Given the description of an element on the screen output the (x, y) to click on. 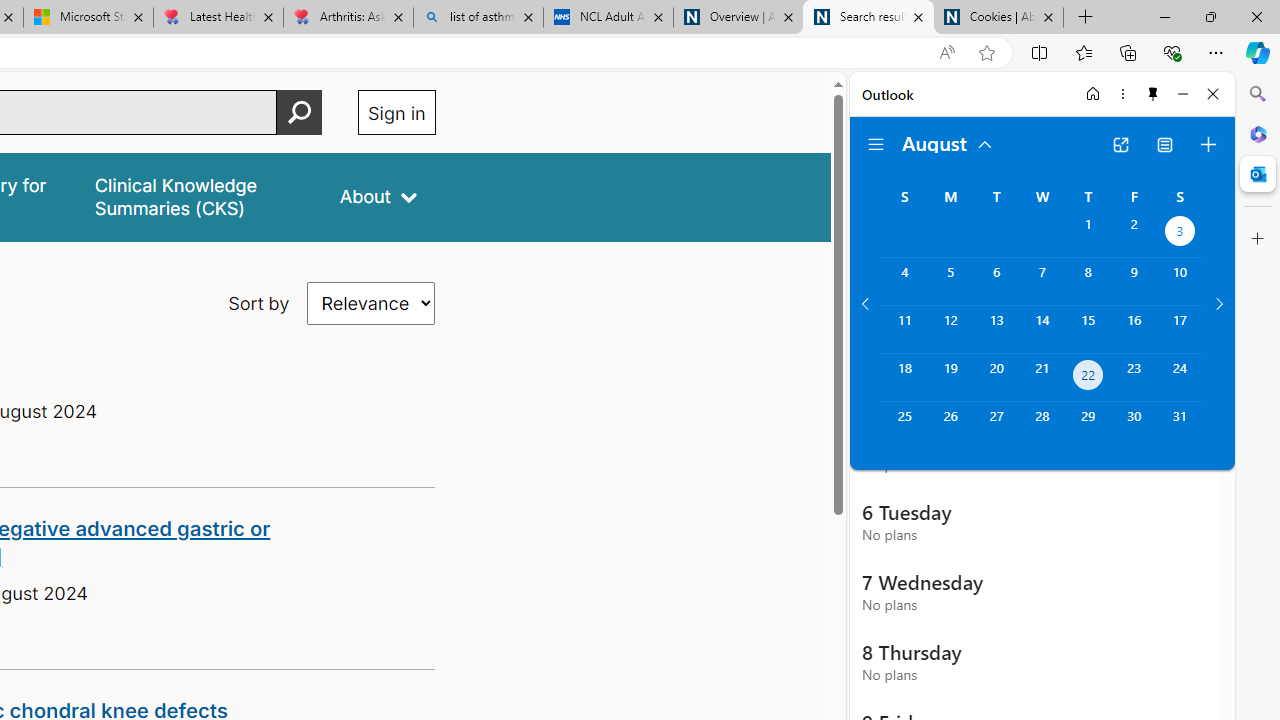
Folder navigation (876, 144)
Saturday, August 24, 2024.  (1180, 377)
Monday, August 19, 2024.  (950, 377)
list of asthma inhalers uk - Search (477, 17)
Tuesday, August 27, 2024.  (996, 425)
Unpin side pane (1153, 93)
Monday, August 26, 2024.  (950, 425)
Sort by (371, 303)
Monday, August 12, 2024.  (950, 329)
Saturday, August 3, 2024. Date selected.  (1180, 233)
Wednesday, August 14, 2024.  (1042, 329)
